Given the description of an element on the screen output the (x, y) to click on. 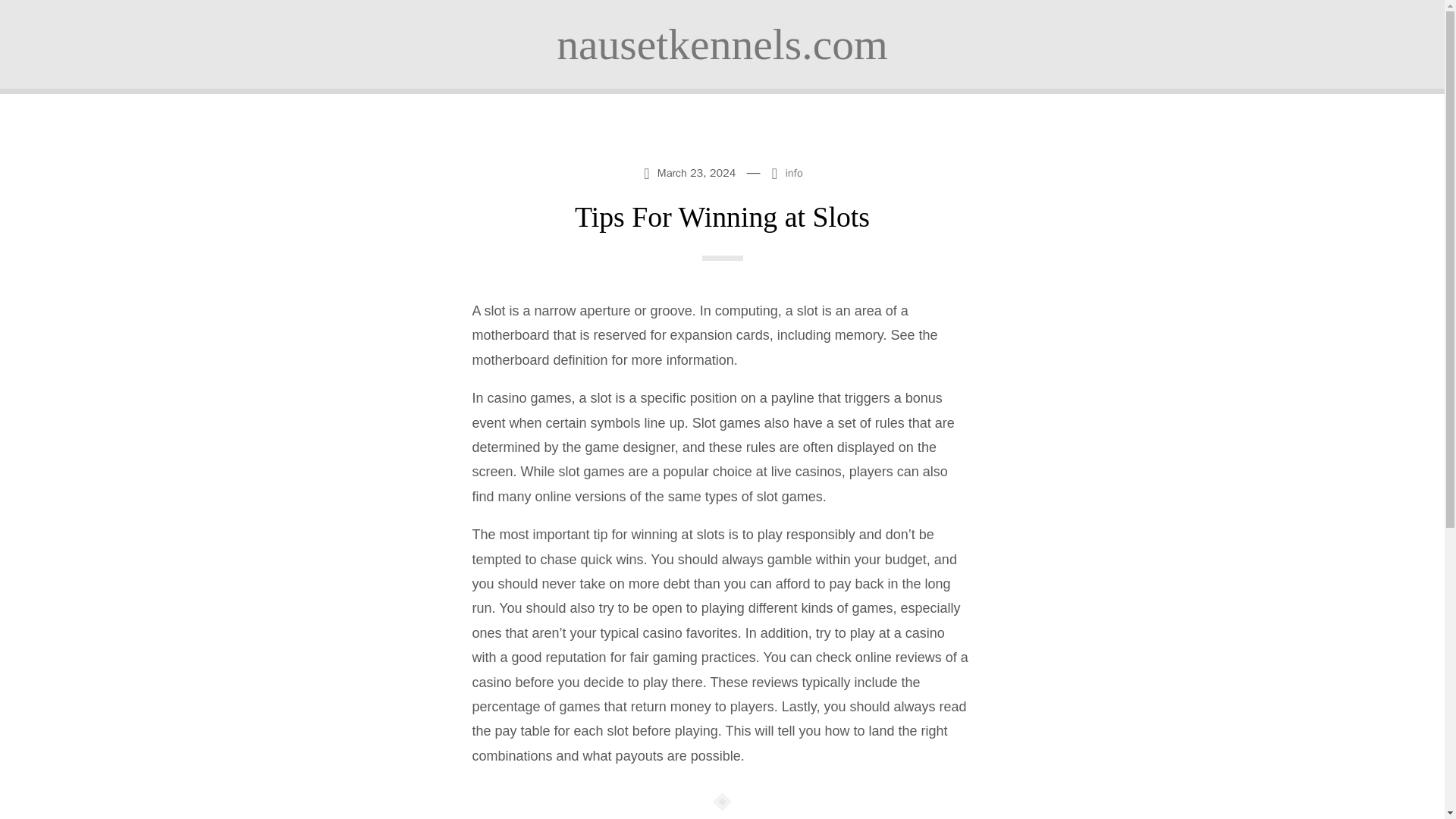
info (793, 172)
nausetkennels.com (722, 43)
